Given the description of an element on the screen output the (x, y) to click on. 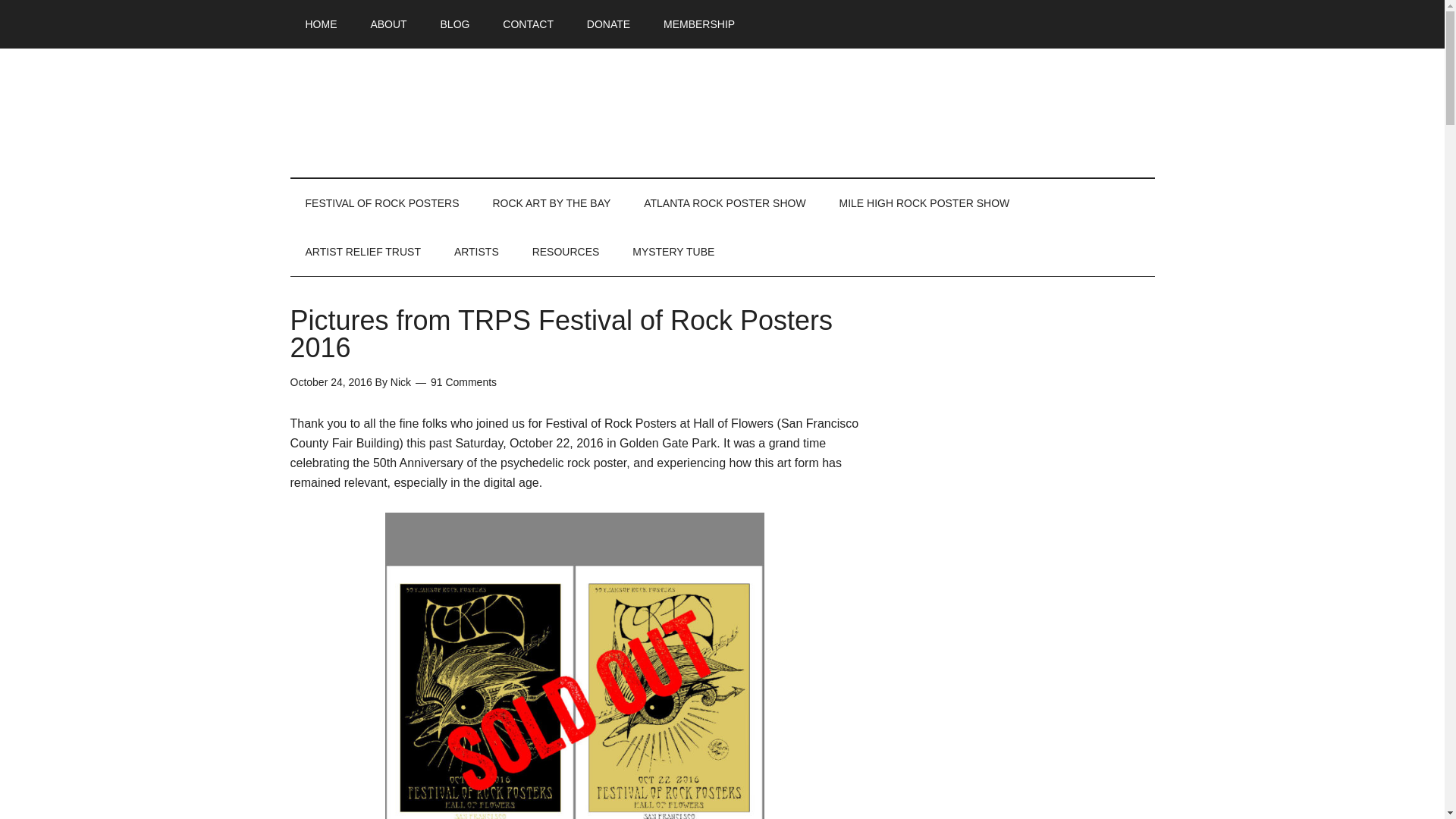
The Rock Poster Society (721, 112)
HOME (320, 24)
ARTIST RELIEF TRUST (362, 251)
ARTISTS (476, 251)
Nick (400, 381)
ROCK ART BY THE BAY (551, 203)
Mystery Tube (673, 251)
ATLANTA ROCK POSTER SHOW (724, 203)
TRPS.org (320, 24)
MYSTERY TUBE (673, 251)
Contact (528, 24)
Rock Art By The Bay (551, 203)
Resources (565, 251)
Festival of Rock Posters (381, 203)
